Given the description of an element on the screen output the (x, y) to click on. 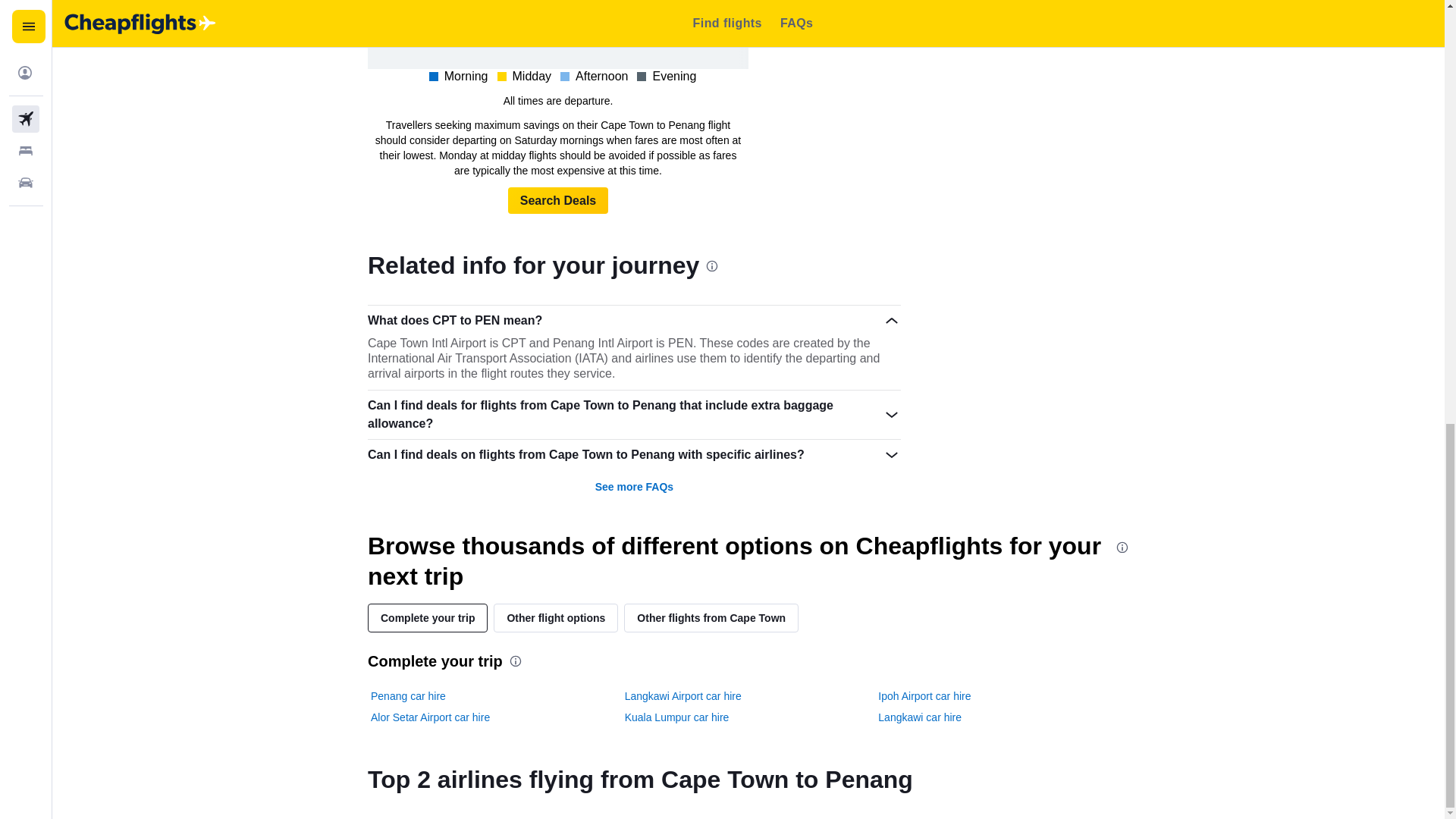
Search Deals (558, 200)
Langkawi car hire (918, 717)
Penang car hire (408, 695)
Other flights from Cape Town (710, 617)
Langkawi Airport car hire (682, 695)
Ipoh Airport car hire (924, 695)
Other flight options (555, 617)
Complete your trip (427, 617)
Kuala Lumpur car hire (676, 717)
Alor Setar Airport car hire (430, 717)
